Given the description of an element on the screen output the (x, y) to click on. 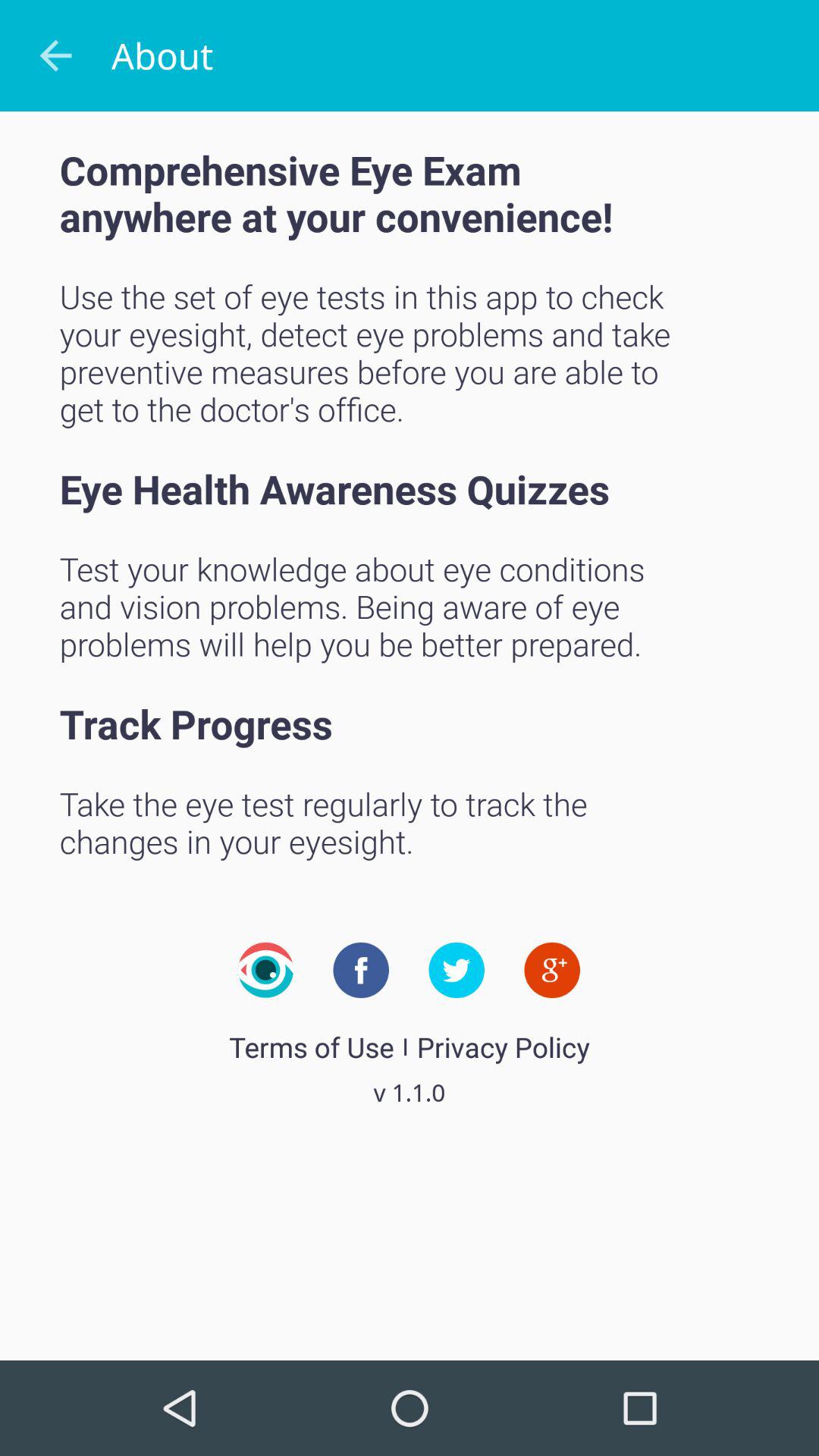
turn off icon next to about (55, 55)
